Given the description of an element on the screen output the (x, y) to click on. 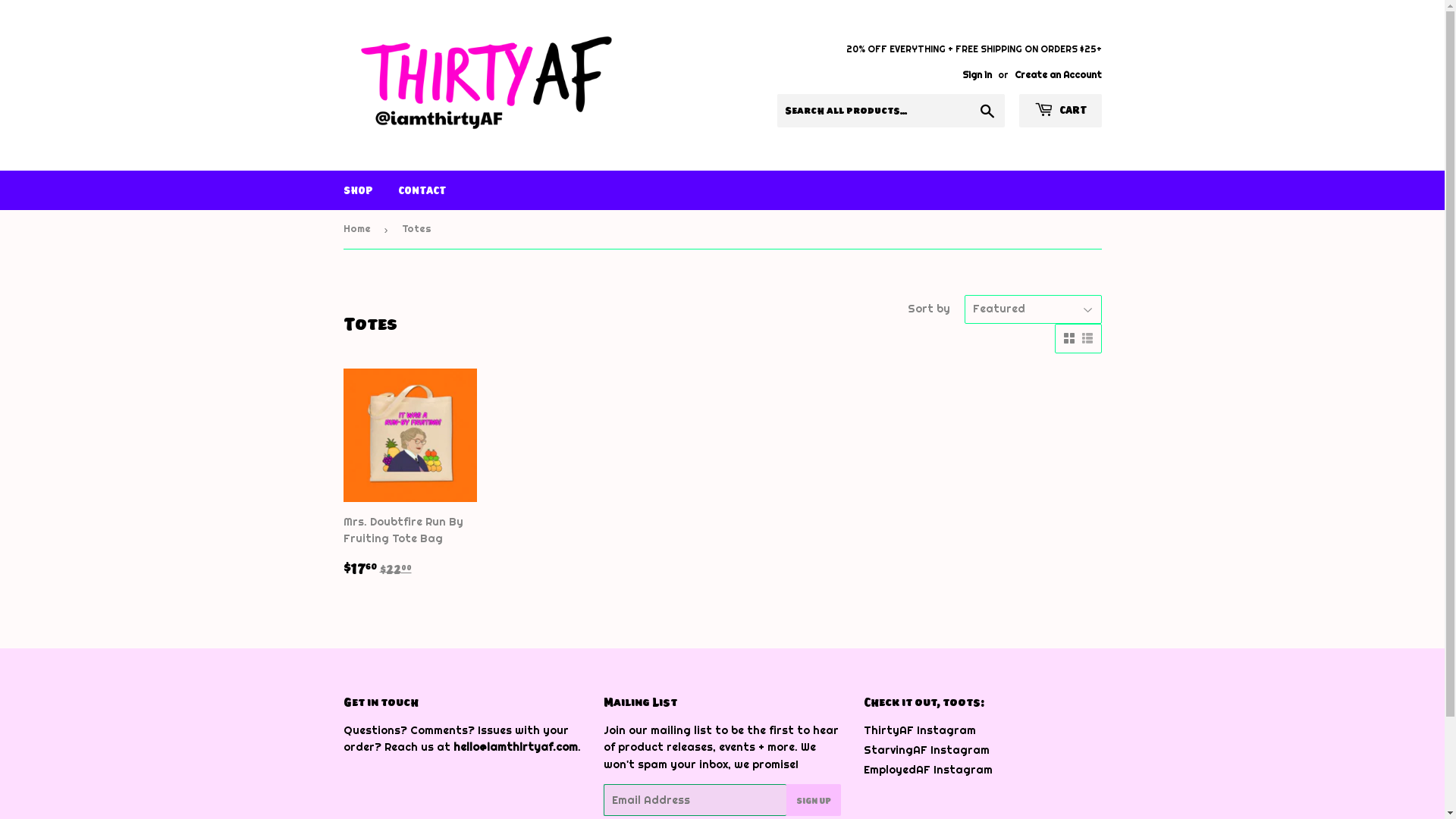
CONTACT Element type: text (421, 190)
List view Element type: hover (1086, 338)
Search Element type: text (987, 111)
ThirtyAF Instagram Element type: text (919, 730)
Create an Account Element type: text (1057, 75)
StarvingAF Instagram Element type: text (926, 749)
Grid view Element type: hover (1068, 338)
CART Element type: text (1060, 110)
SIGN UP Element type: text (813, 799)
SHOP Element type: text (358, 190)
Sign in Element type: text (976, 75)
Home Element type: text (358, 229)
EmployedAF Instagram Element type: text (927, 769)
